Given the description of an element on the screen output the (x, y) to click on. 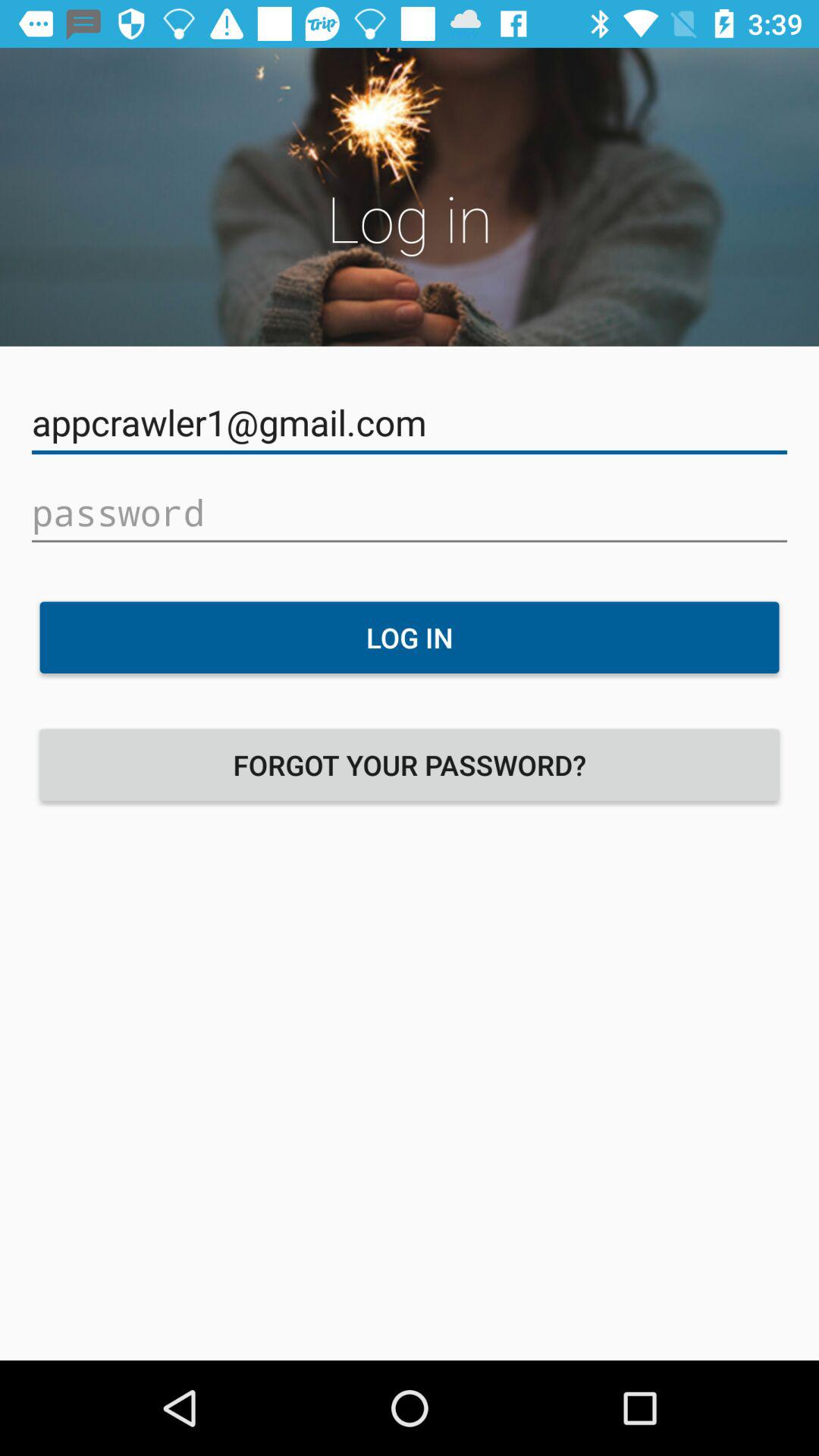
press the item below appcrawler1@gmail.com item (409, 512)
